Given the description of an element on the screen output the (x, y) to click on. 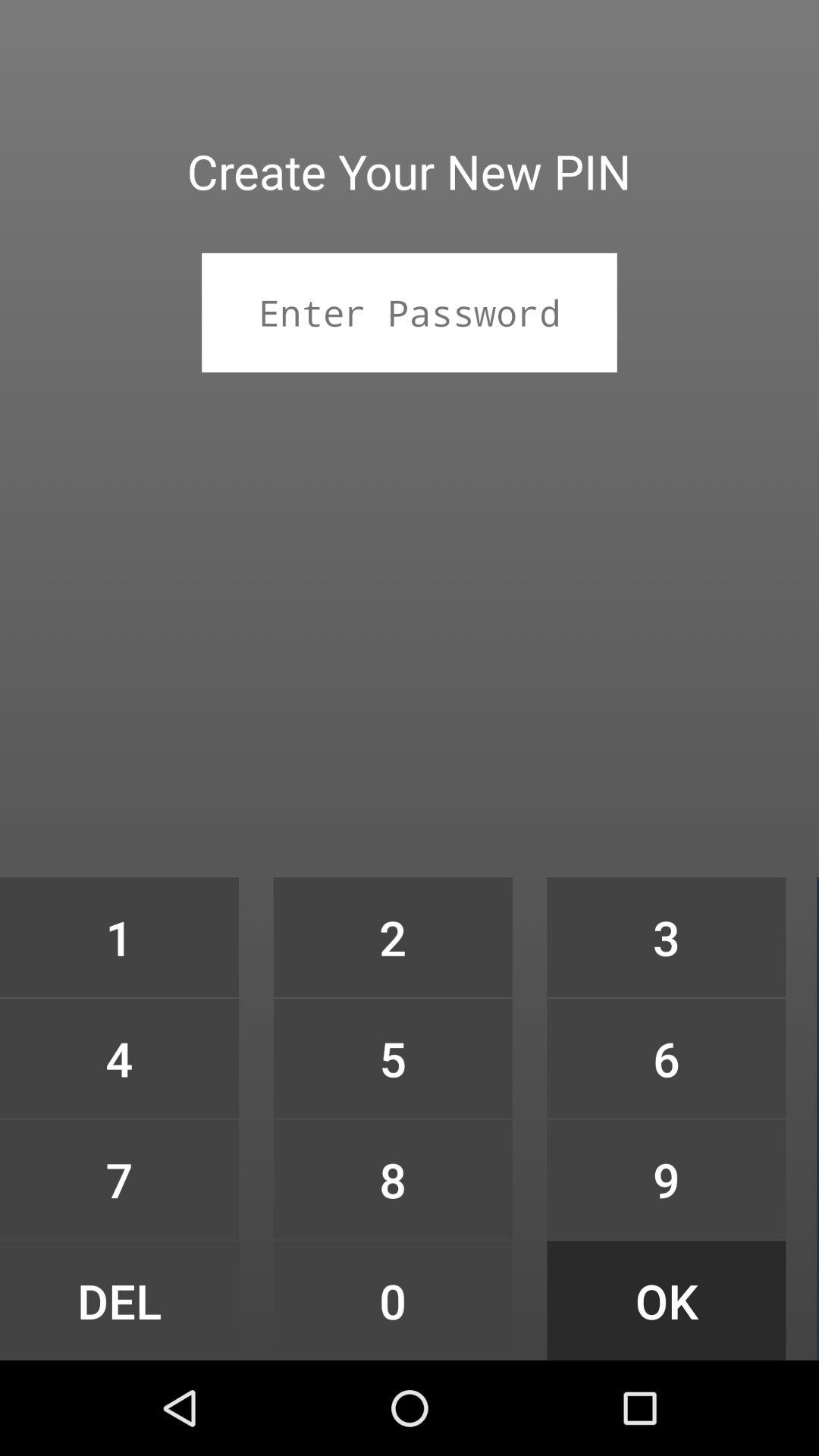
turn on item at the center (392, 937)
